Given the description of an element on the screen output the (x, y) to click on. 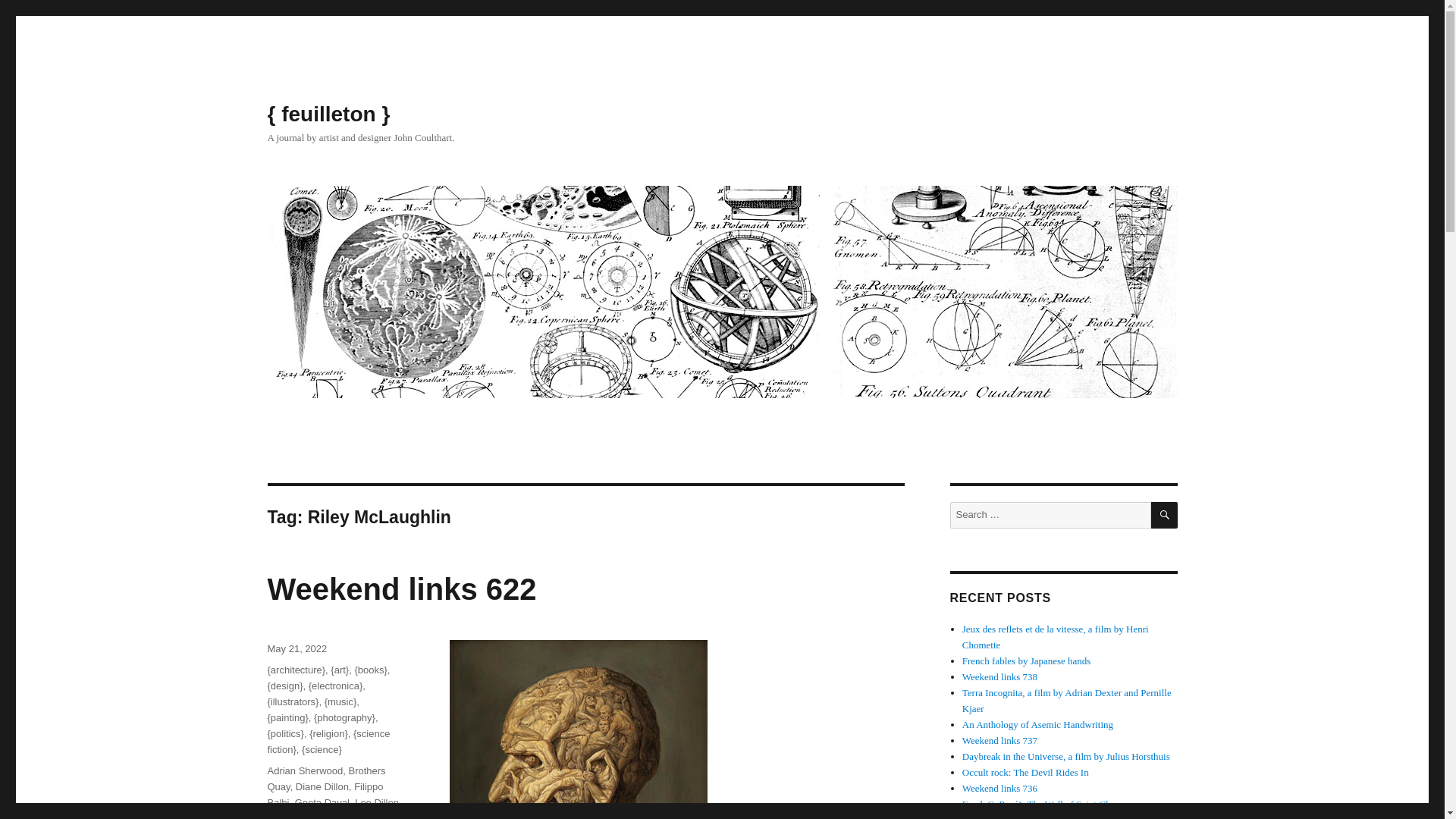
Weekend links 622 (400, 589)
May 21, 2022 (296, 648)
Filippo Balbi (324, 794)
Brothers Quay (325, 778)
Diane Dillon (322, 786)
Adrian Sherwood (304, 770)
